Given the description of an element on the screen output the (x, y) to click on. 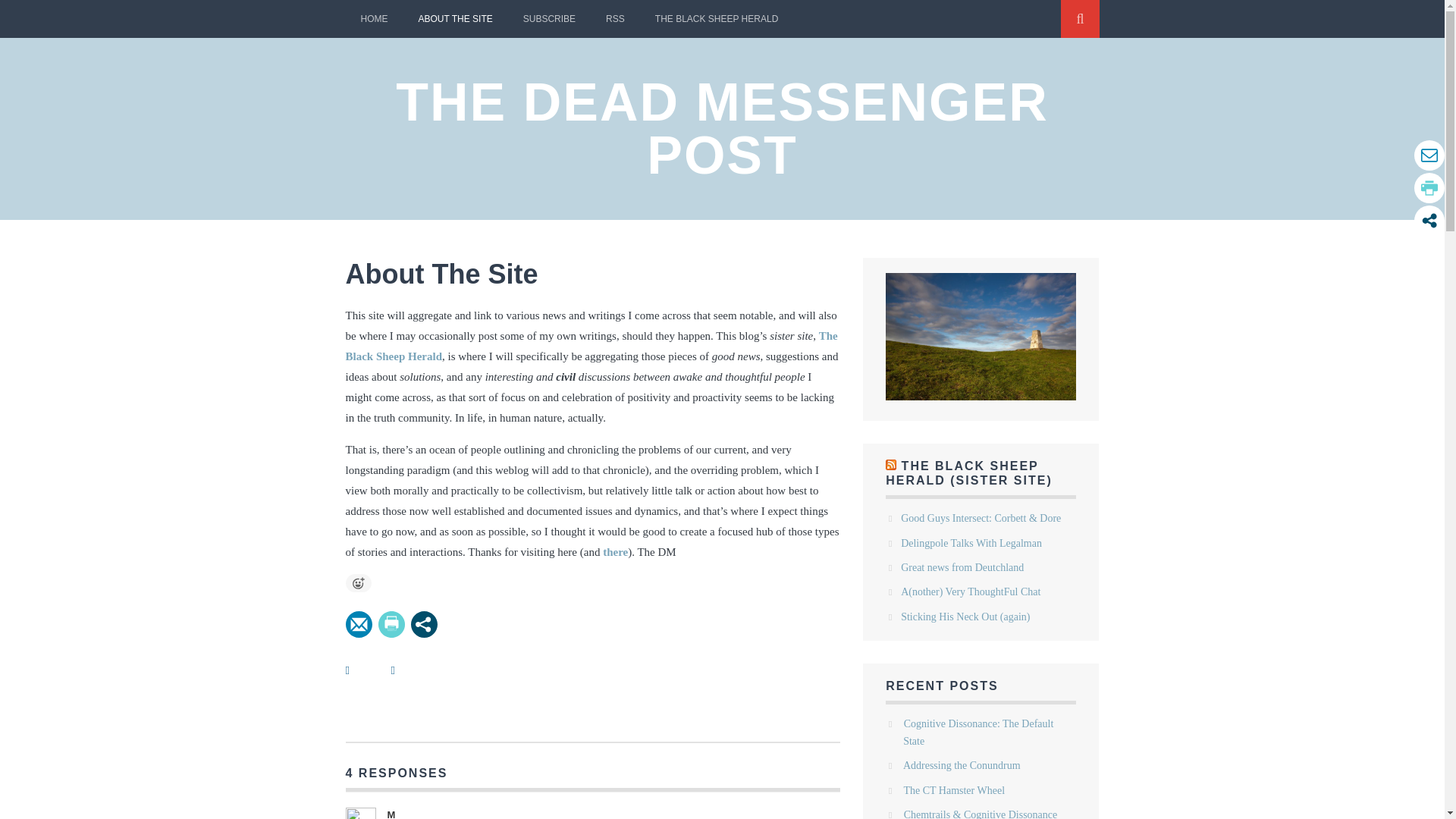
The Black Sheep Herald (592, 346)
The Black Sheep Herald (716, 18)
Photo by Dale Stephens (980, 336)
THE DEAD MESSENGER POST (722, 128)
HOME (374, 18)
there (614, 551)
RSS (615, 18)
SUBSCRIBE (549, 18)
ABOUT THE SITE (455, 18)
Print via PrintFriendly (390, 624)
Cognitive Dissonance: The Default State (977, 732)
Send by email (359, 624)
THE BLACK SHEEP HERALD (716, 18)
Great news from Deutchland (962, 567)
Open modal social networks (424, 624)
